Given the description of an element on the screen output the (x, y) to click on. 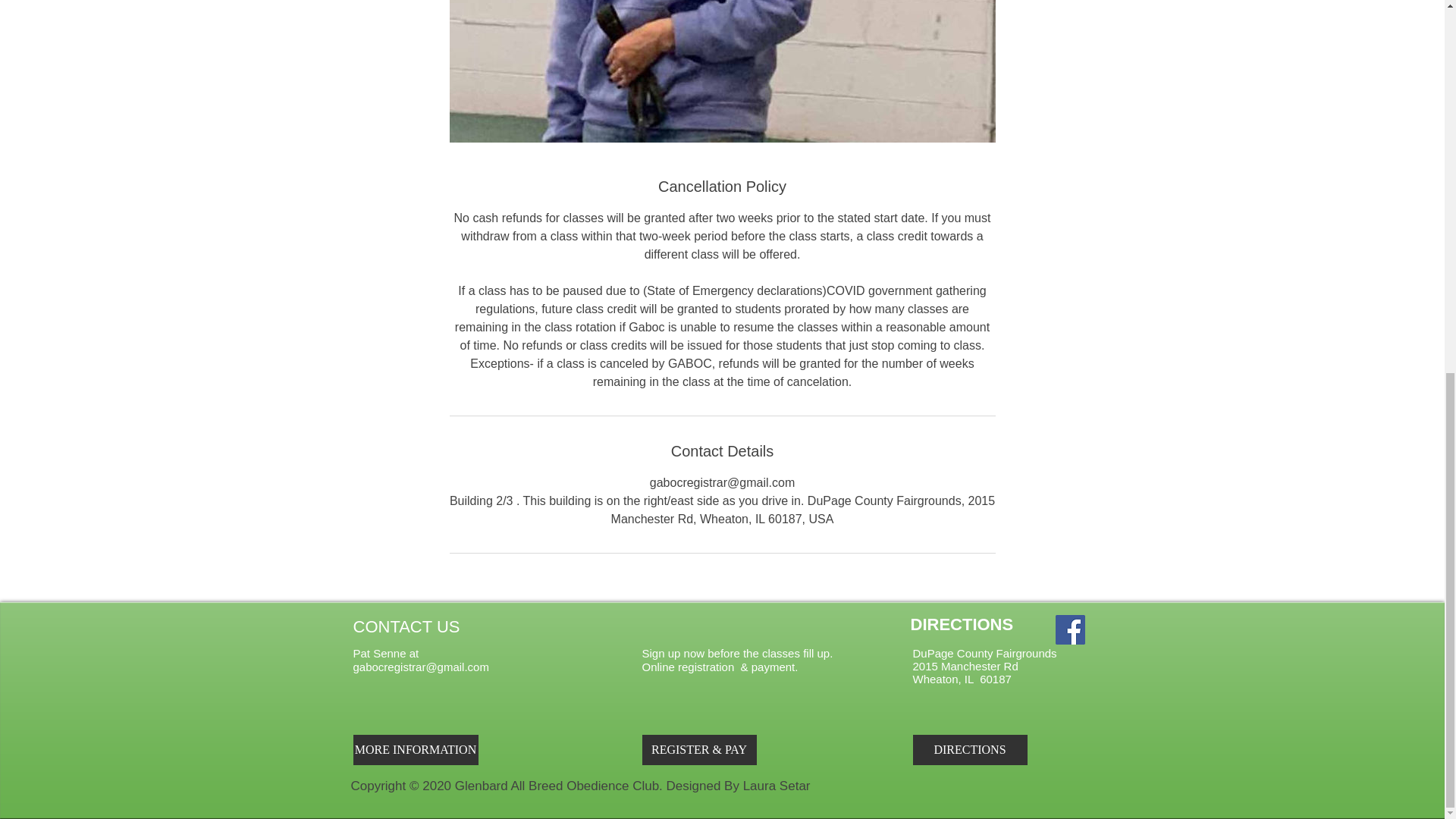
MORE INFORMATION (416, 749)
DIRECTIONS (969, 749)
